Given the description of an element on the screen output the (x, y) to click on. 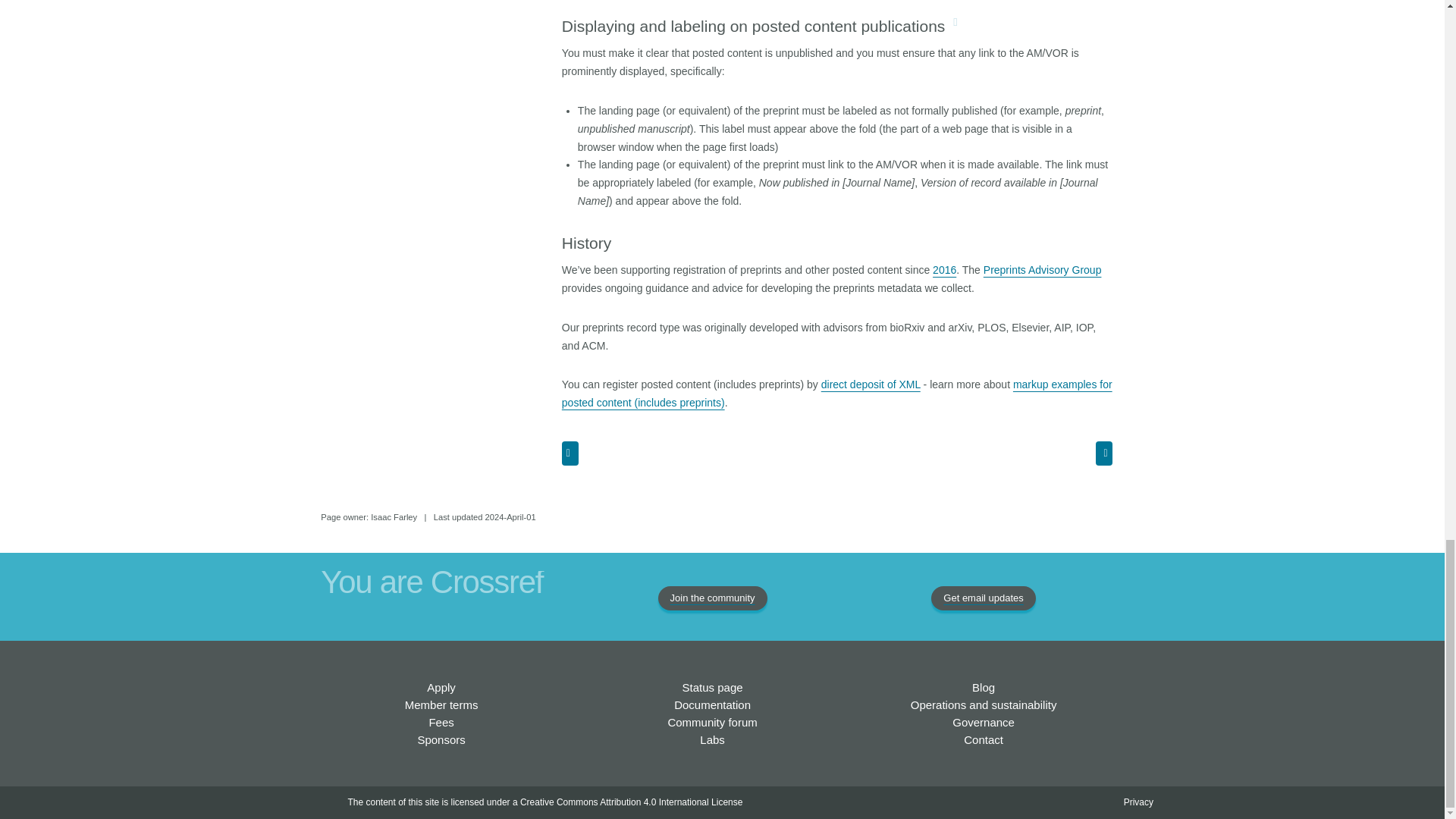
Contact (983, 739)
Status page (712, 686)
Become a member (440, 686)
Sponsors (440, 739)
Fees (440, 721)
Blog (983, 686)
Documentation (712, 704)
Labs (712, 739)
Governance (983, 721)
Operations and sustainability (984, 704)
